Given the description of an element on the screen output the (x, y) to click on. 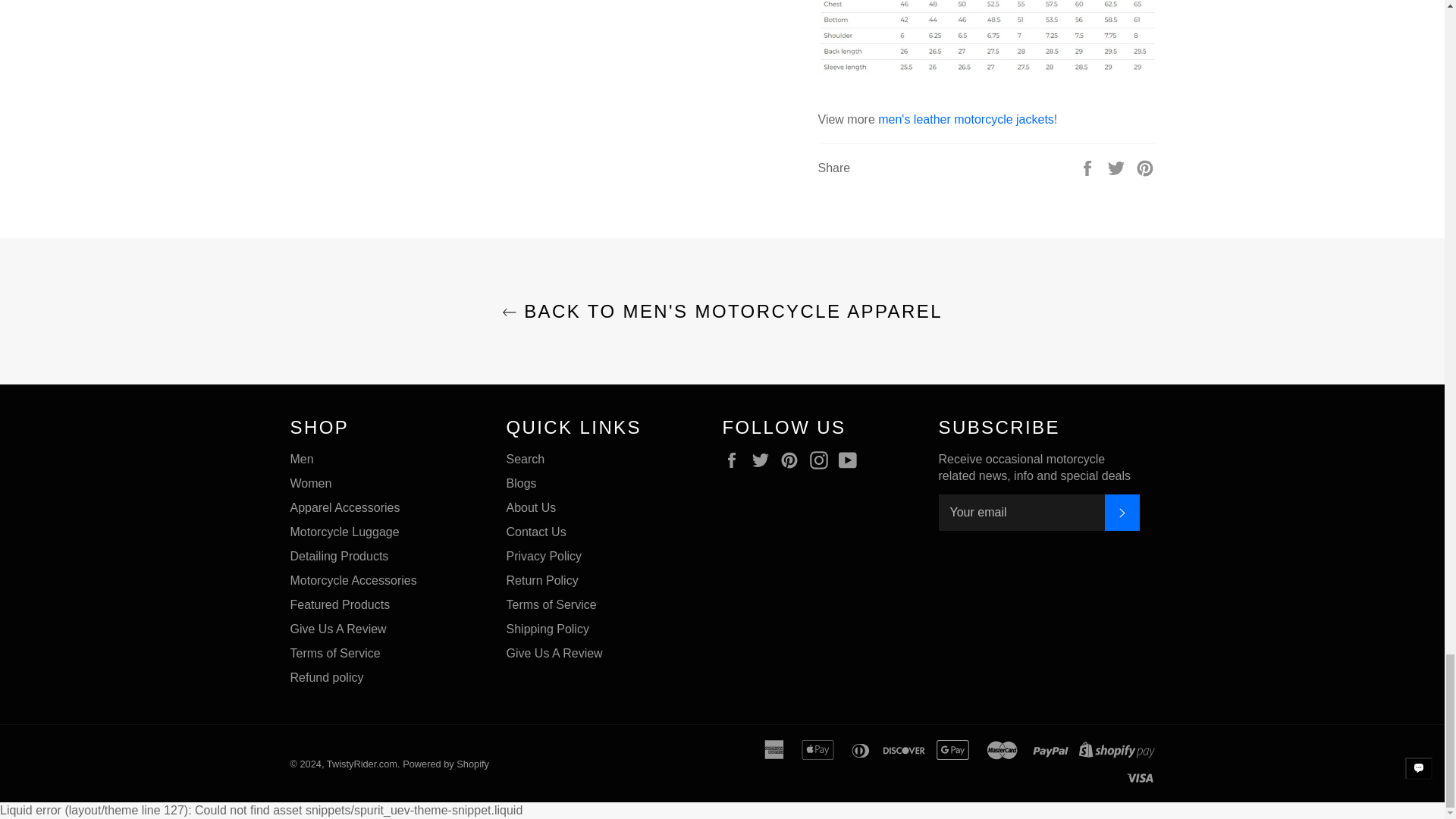
TwistyRider.com on Twitter (764, 460)
TwistyRider.com on YouTube (851, 460)
TwistyRider.com on Instagram (822, 460)
Tweet on Twitter (1117, 166)
Pin on Pinterest (1144, 166)
Men's Leather Motorcycle Jackets Collection (965, 119)
TwistyRider.com on Pinterest (793, 460)
Share on Facebook (1088, 166)
TwistyRider.com on Facebook (735, 460)
